Given the description of an element on the screen output the (x, y) to click on. 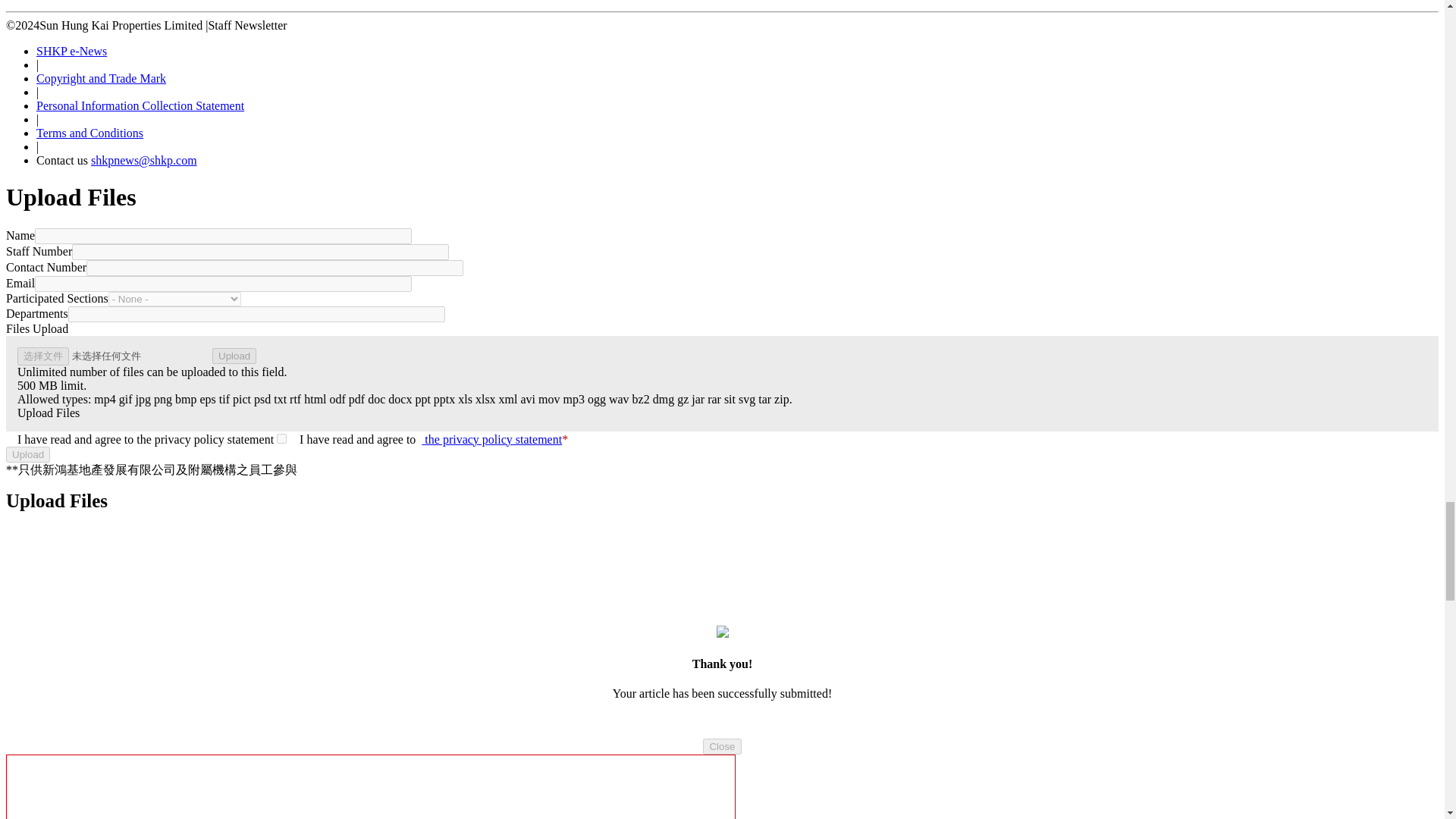
Upload (234, 355)
1 (281, 438)
Upload (27, 454)
